Given the description of an element on the screen output the (x, y) to click on. 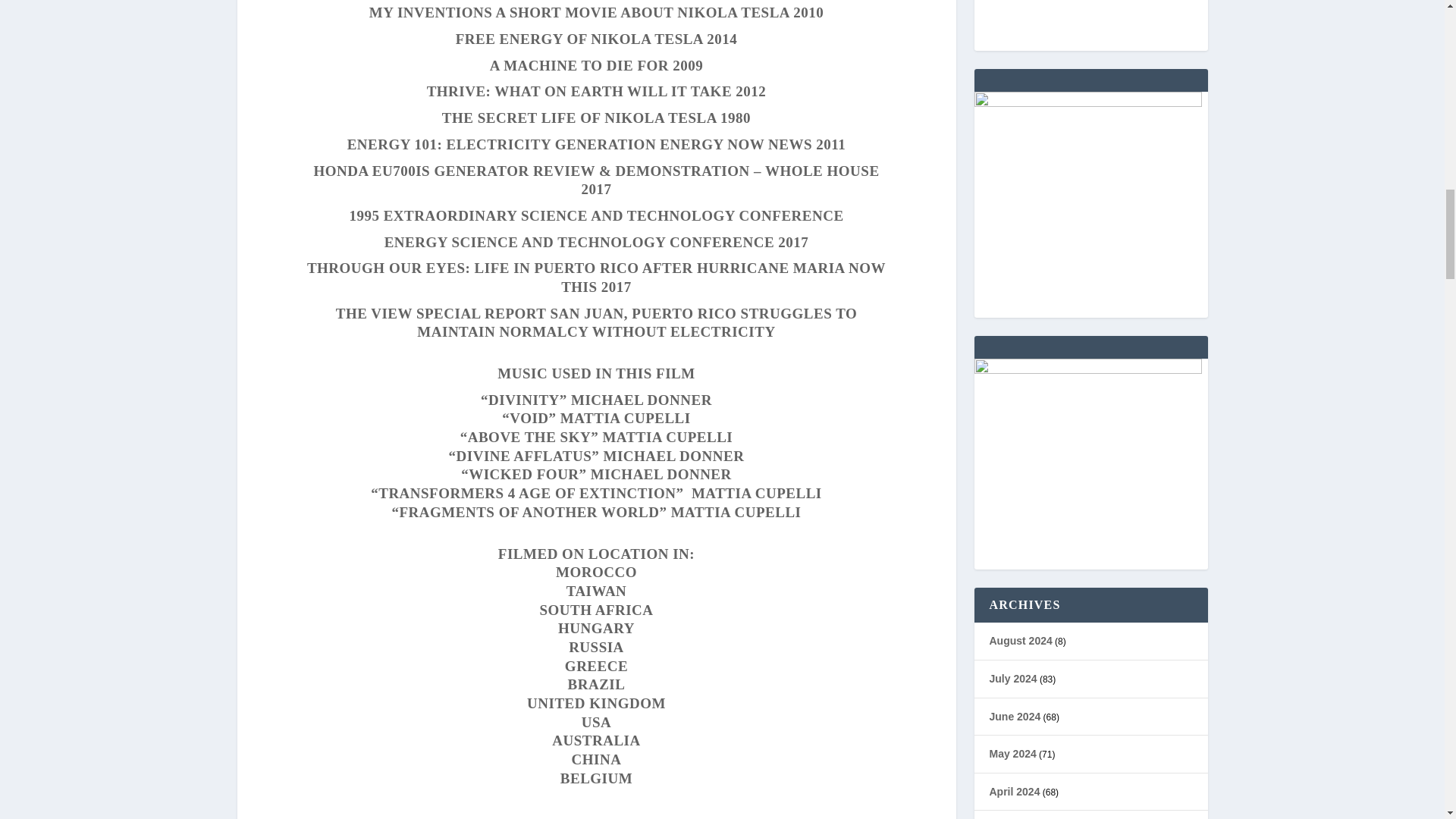
June 2024 (1014, 716)
July 2024 (1012, 678)
May 2024 (1011, 753)
August 2024 (1019, 640)
